Given the description of an element on the screen output the (x, y) to click on. 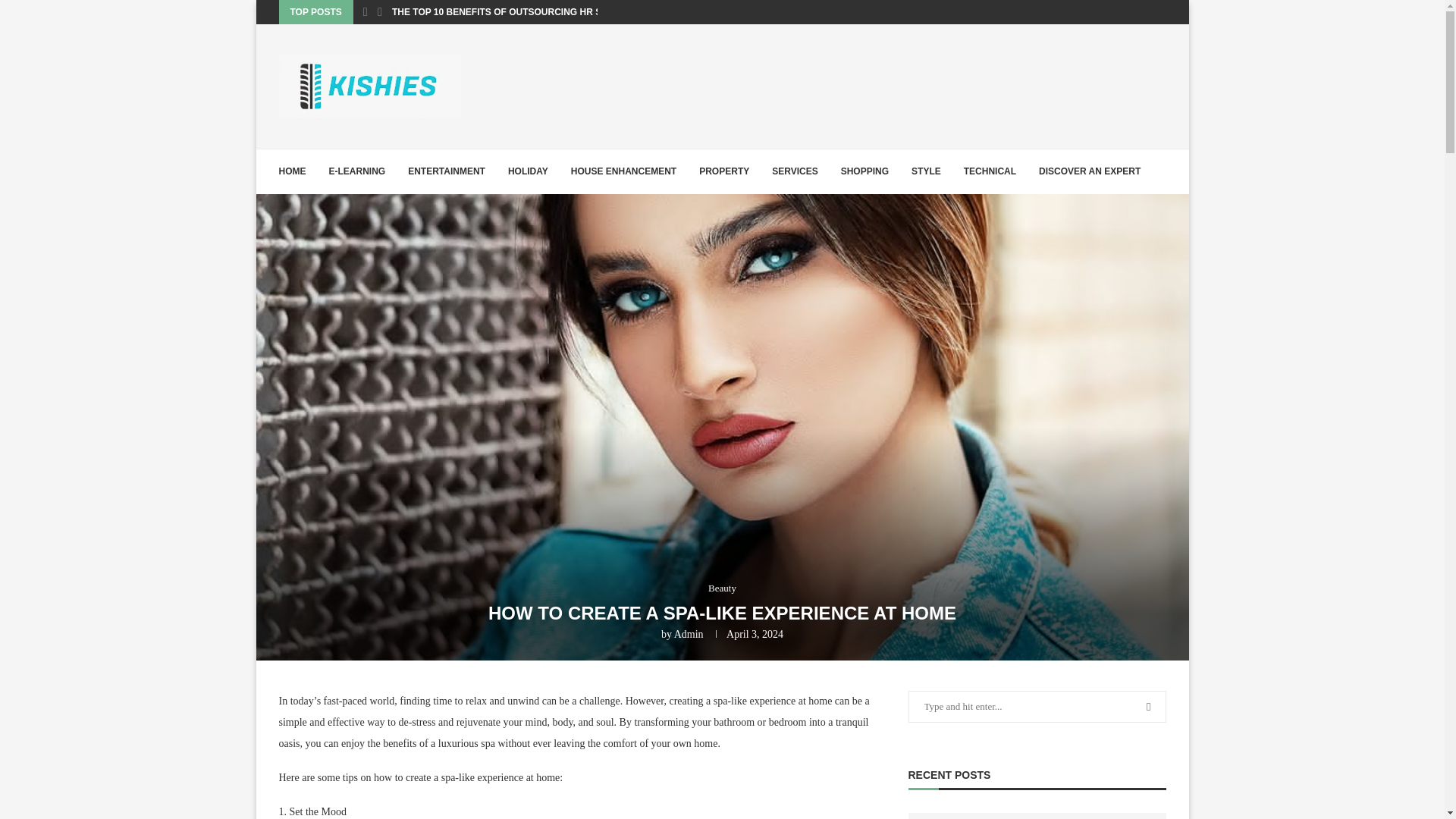
SERVICES (793, 171)
Admin (688, 633)
The Top 10 Benefits of Outsourcing HR Services (1037, 816)
ENTERTAINMENT (445, 171)
DISCOVER AN EXPERT (1089, 171)
SHOPPING (864, 171)
TECHNICAL (989, 171)
CONTACT US (308, 215)
PROPERTY (723, 171)
HOLIDAY (528, 171)
Beauty (721, 588)
E-LEARNING (357, 171)
THE TOP 10 BENEFITS OF OUTSOURCING HR SERVICES (516, 12)
HOUSE ENHANCEMENT (623, 171)
